Given the description of an element on the screen output the (x, y) to click on. 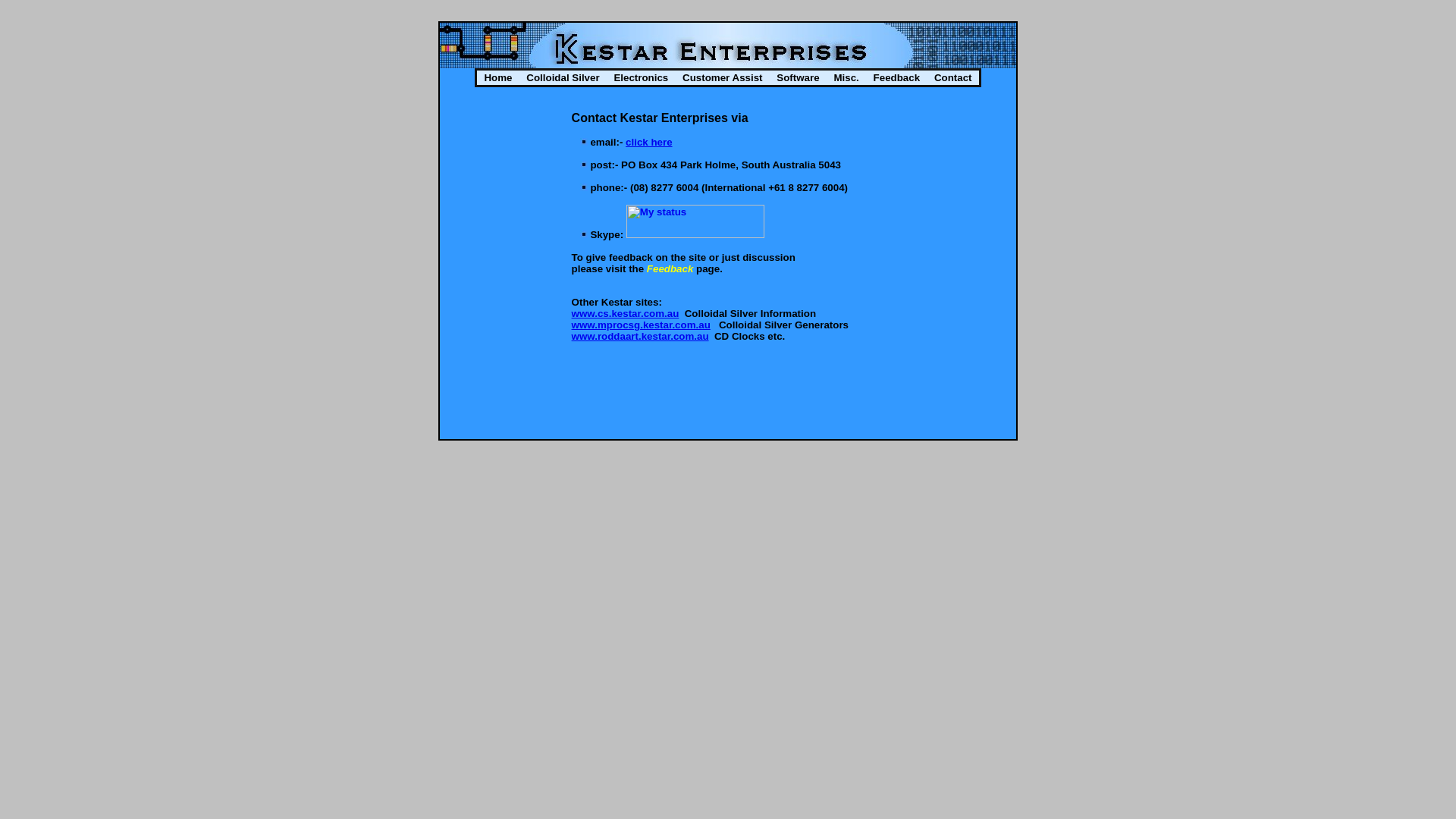
  Contact   Element type: text (952, 77)
www.mprocsg.kestar.com.au Element type: text (640, 324)
www.cs.kestar.com.au Element type: text (625, 313)
  Software   Element type: text (798, 77)
click here Element type: text (648, 141)
www.roddaart.kestar.com.au Element type: text (640, 336)
  Customer Assist   Element type: text (722, 77)
Feedback Element type: text (669, 268)
  Feedback   Element type: text (896, 77)
  Electronics   Element type: text (641, 77)
  Home   Element type: text (497, 77)
  Misc.   Element type: text (846, 77)
  Colloidal Silver   Element type: text (562, 77)
